Given the description of an element on the screen output the (x, y) to click on. 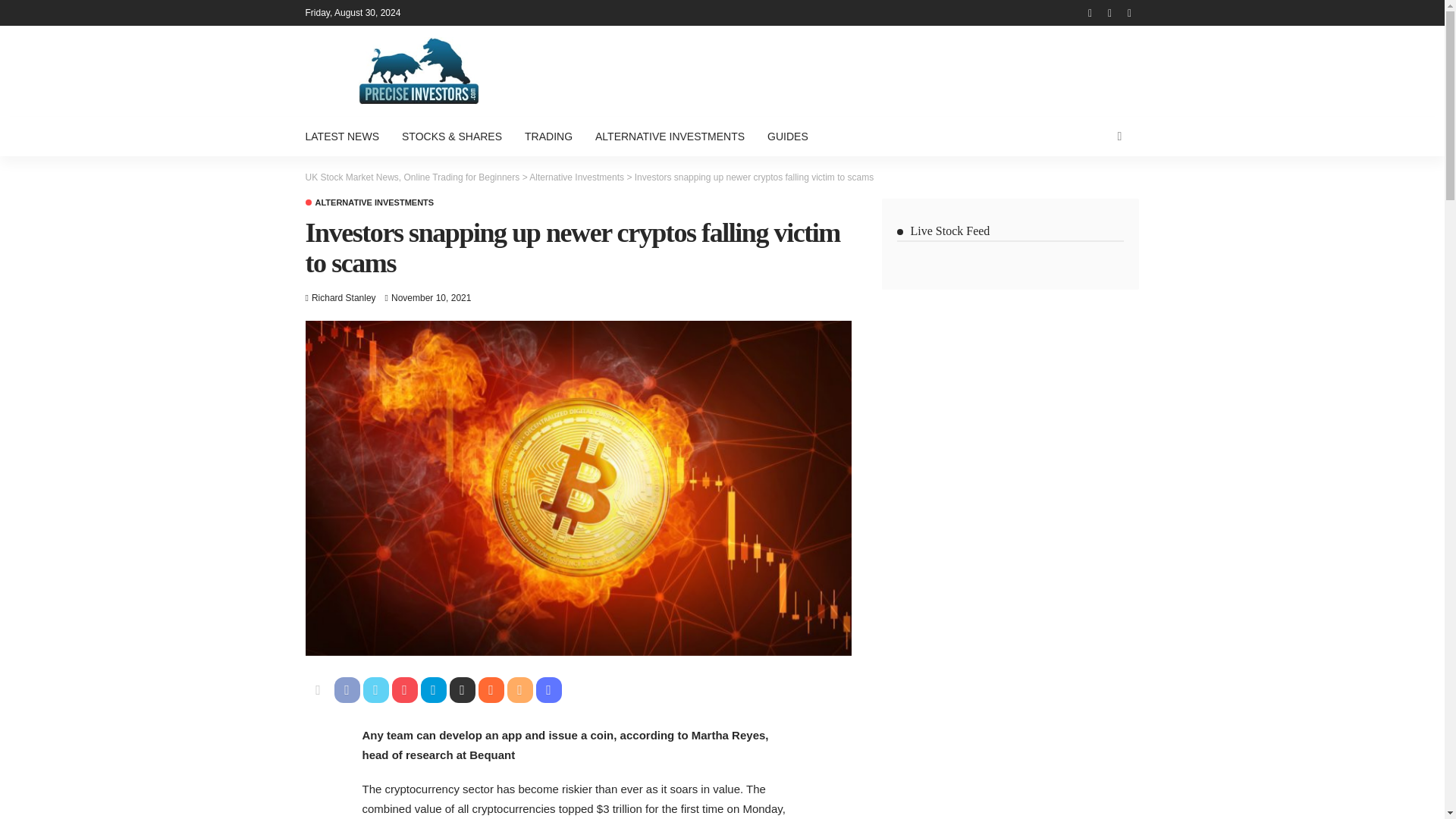
UK Stock Market News, Online Trading for Beginners (411, 176)
Go to UK Stock Market News, Online Trading for Beginners. (411, 176)
LATEST NEWS (347, 136)
Alternative Investments (576, 176)
ALTERNATIVE INVESTMENTS (368, 203)
Richard Stanley (343, 297)
GUIDES (787, 136)
search (1118, 136)
TRADING (548, 136)
ALTERNATIVE INVESTMENTS (669, 136)
